Given the description of an element on the screen output the (x, y) to click on. 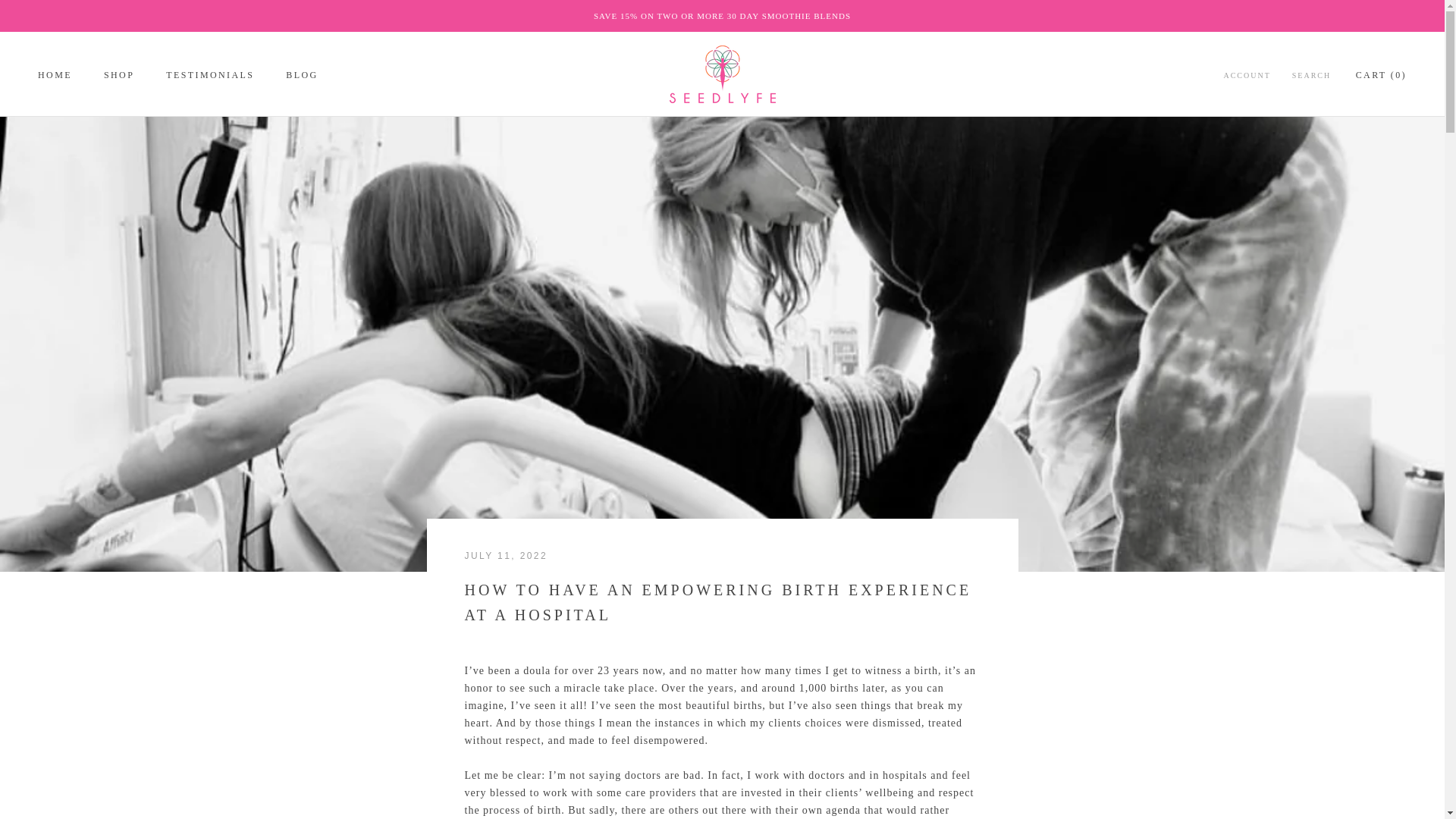
SHOP (118, 74)
TESTIMONIALS (301, 74)
